Given the description of an element on the screen output the (x, y) to click on. 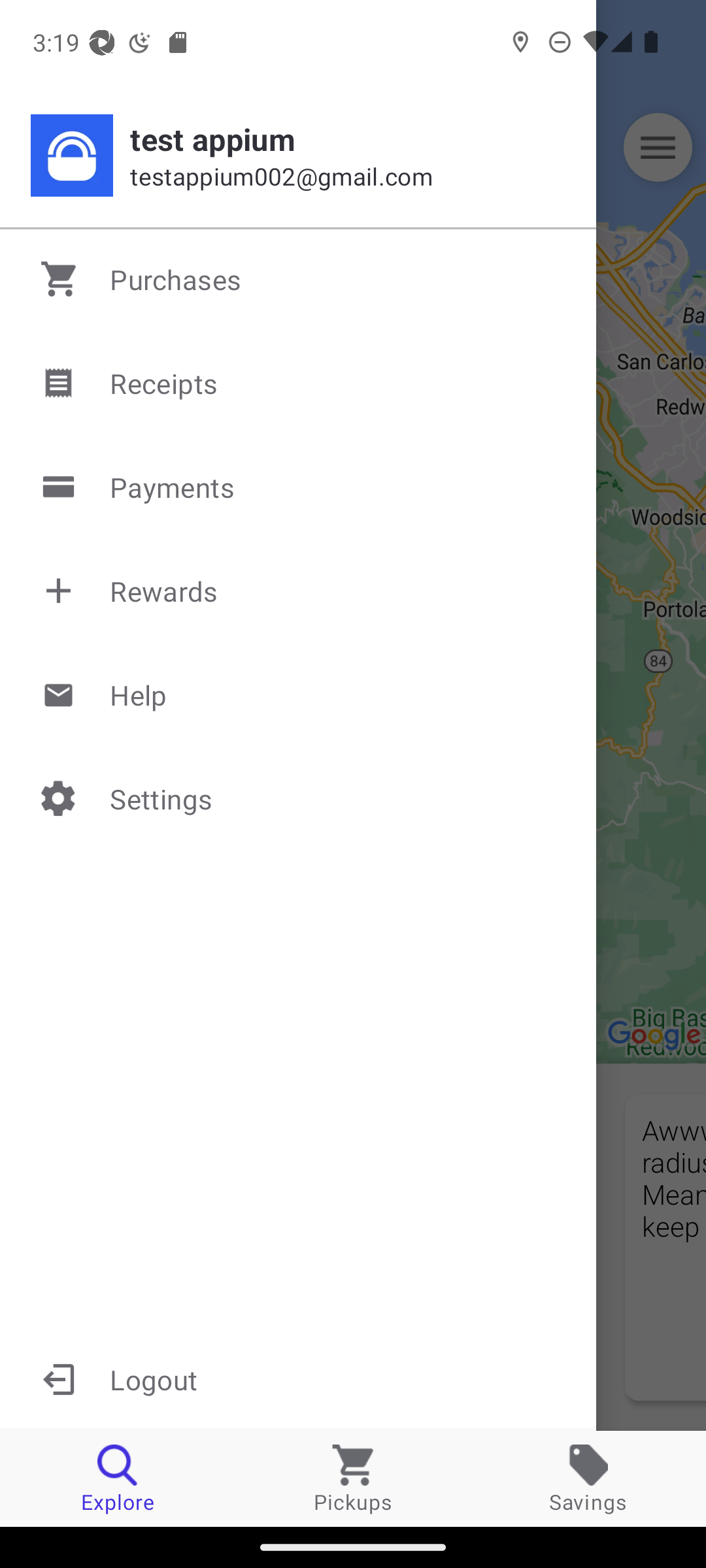
Purchases (299, 278)
Receipts (299, 382)
Payments (299, 487)
Rewards (299, 590)
Help (299, 694)
Settings (299, 797)
Logout (297, 1379)
Pickups (352, 1478)
Savings (588, 1478)
